Given the description of an element on the screen output the (x, y) to click on. 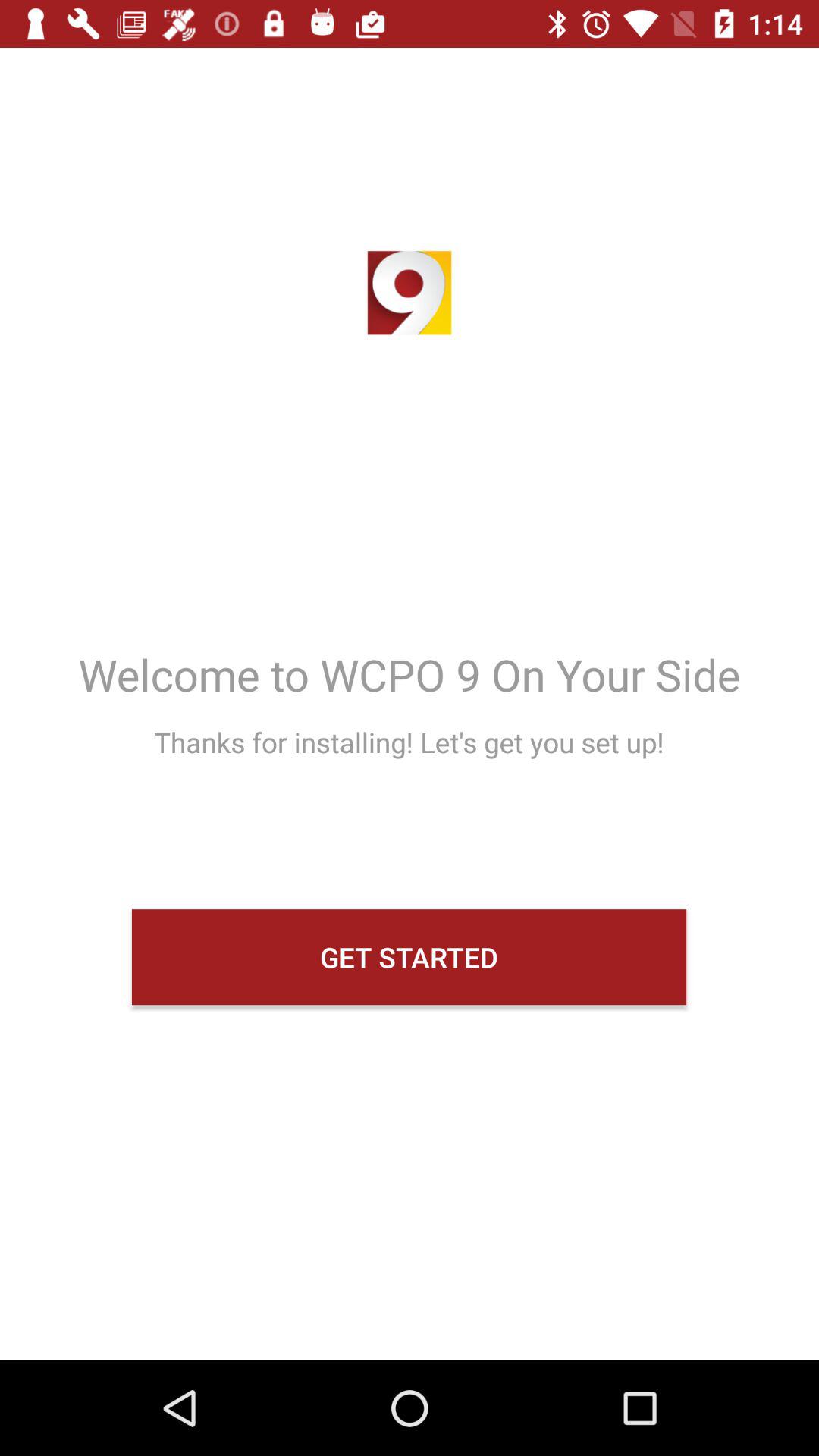
select the get started icon (408, 956)
